Given the description of an element on the screen output the (x, y) to click on. 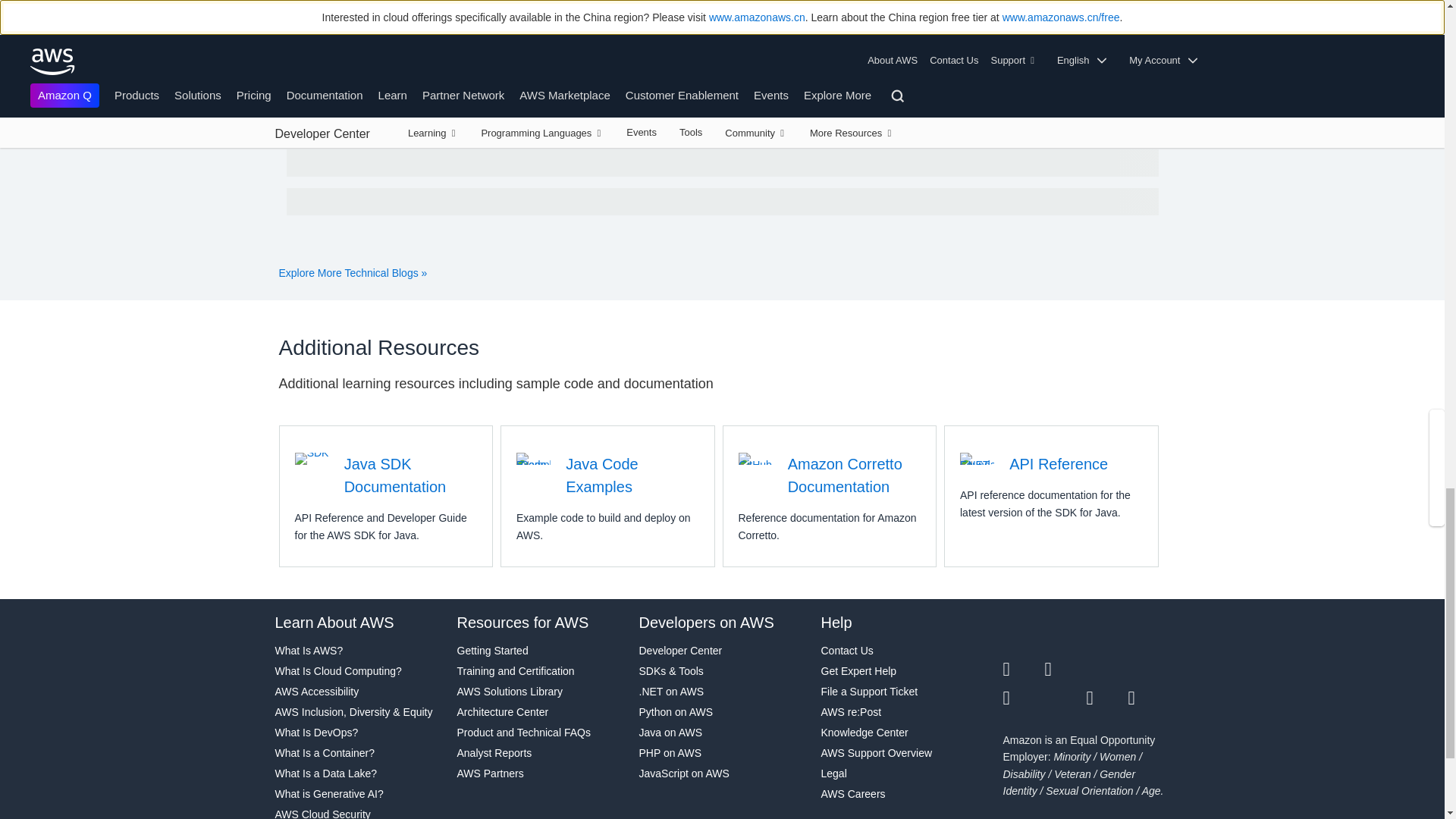
Facebook (1065, 669)
GitHub (755, 458)
Twitter (1023, 669)
SDK (312, 458)
Code Examples (533, 458)
.NET Foundation (976, 458)
